Given the description of an element on the screen output the (x, y) to click on. 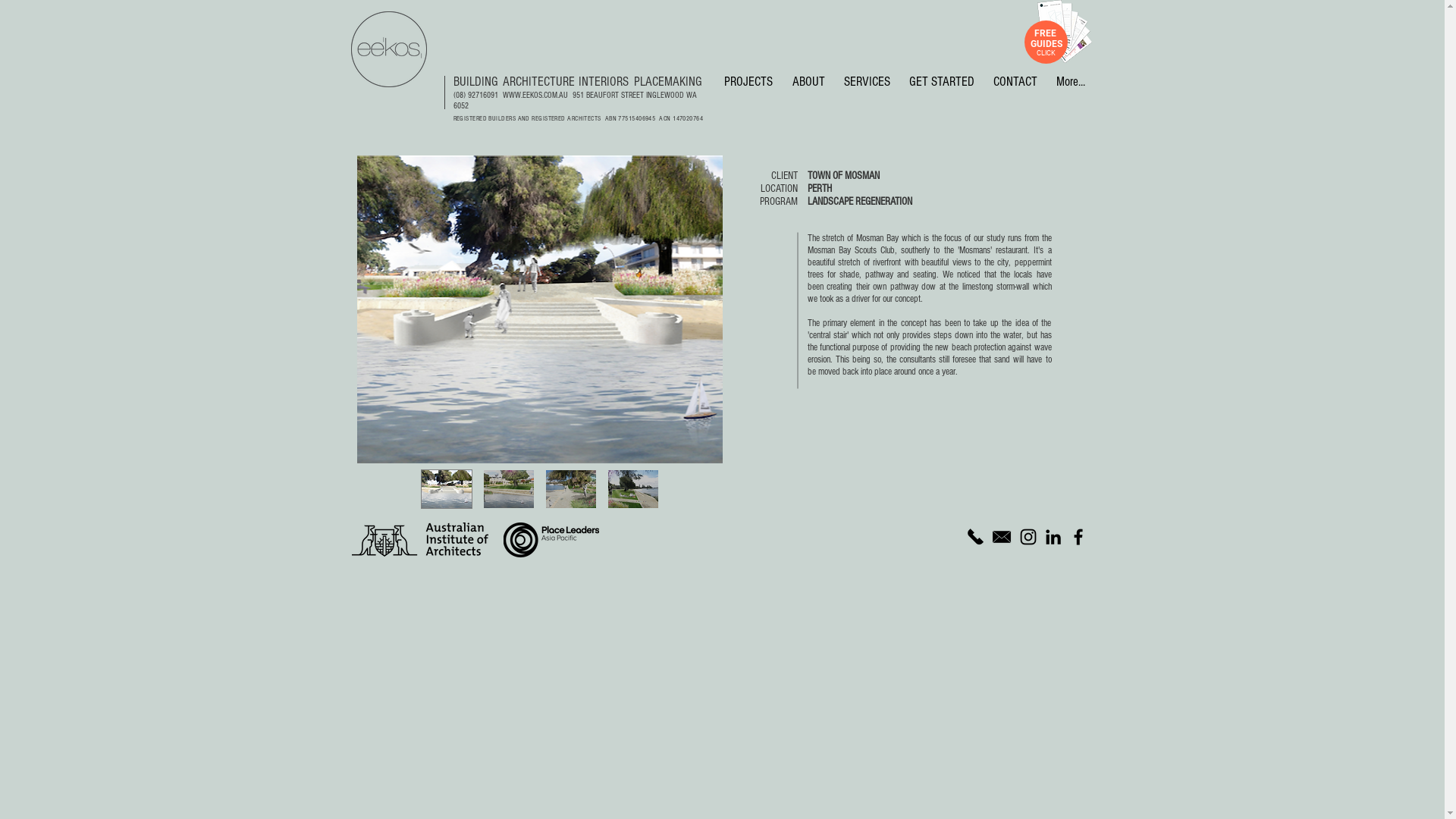
WWW.EEKOS.COM.AU Element type: text (534, 95)
CONTACT Element type: text (1012, 81)
ABOUT Element type: text (805, 81)
PLACEMAKING Element type: text (667, 81)
SERVICES Element type: text (864, 81)
Logo_Vector.png Element type: hover (388, 49)
EEKOS FREE DOWNLOADS.png Element type: hover (1064, 31)
FREE Element type: text (1045, 33)
BUILDING Element type: text (475, 81)
PROJECTS Element type: text (745, 81)
ARCHITECTURE Element type: text (538, 81)
GET STARTED Element type: text (939, 81)
INTERIORS Element type: text (602, 81)
